Given the description of an element on the screen output the (x, y) to click on. 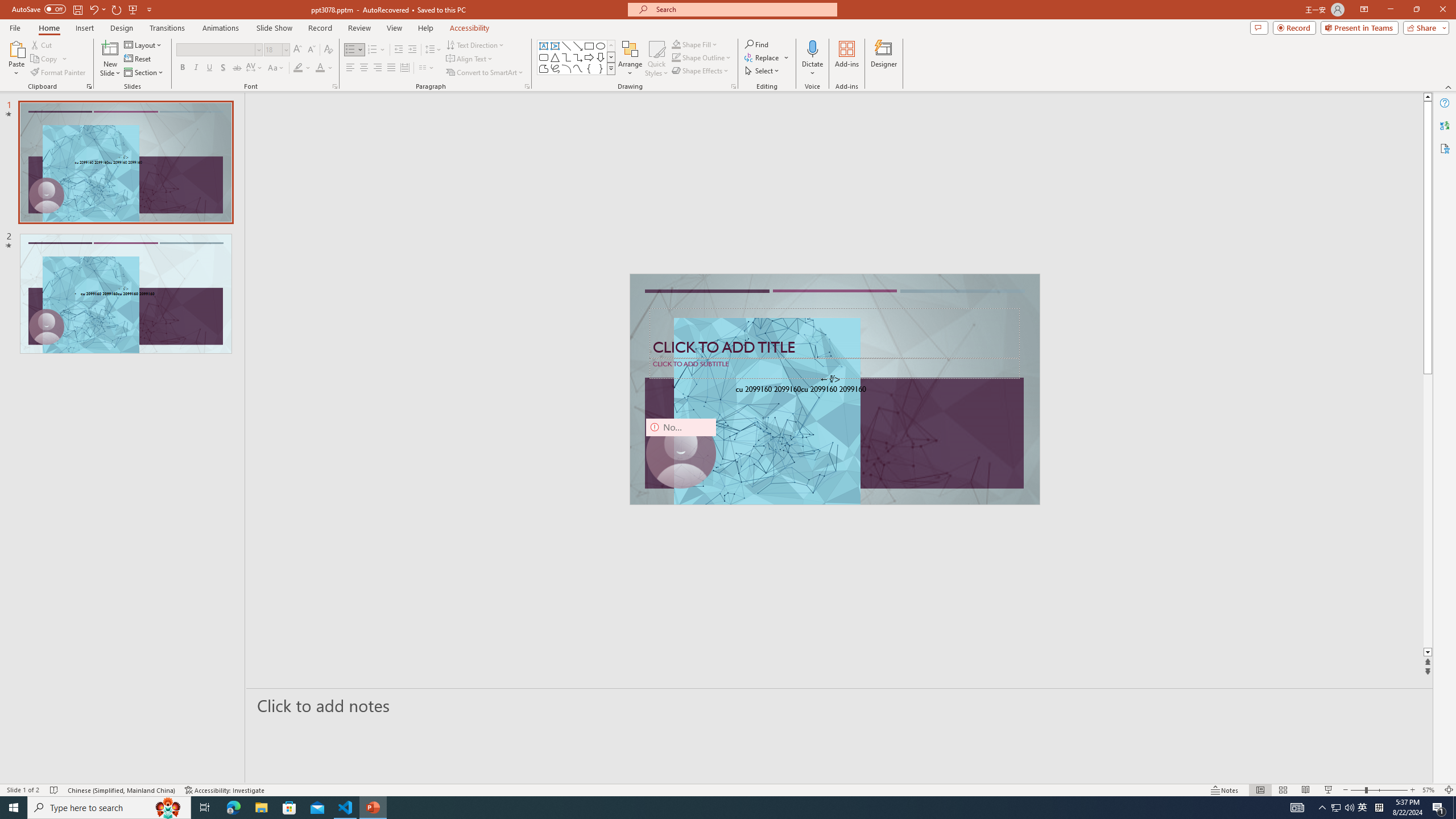
Justify (390, 67)
Distributed (404, 67)
Font (215, 49)
Paste (16, 48)
Bold (182, 67)
Oval (600, 45)
Copy (45, 58)
Strikethrough (237, 67)
Text Direction (476, 44)
Zoom 57% (1430, 790)
Shape Outline (701, 56)
